Given the description of an element on the screen output the (x, y) to click on. 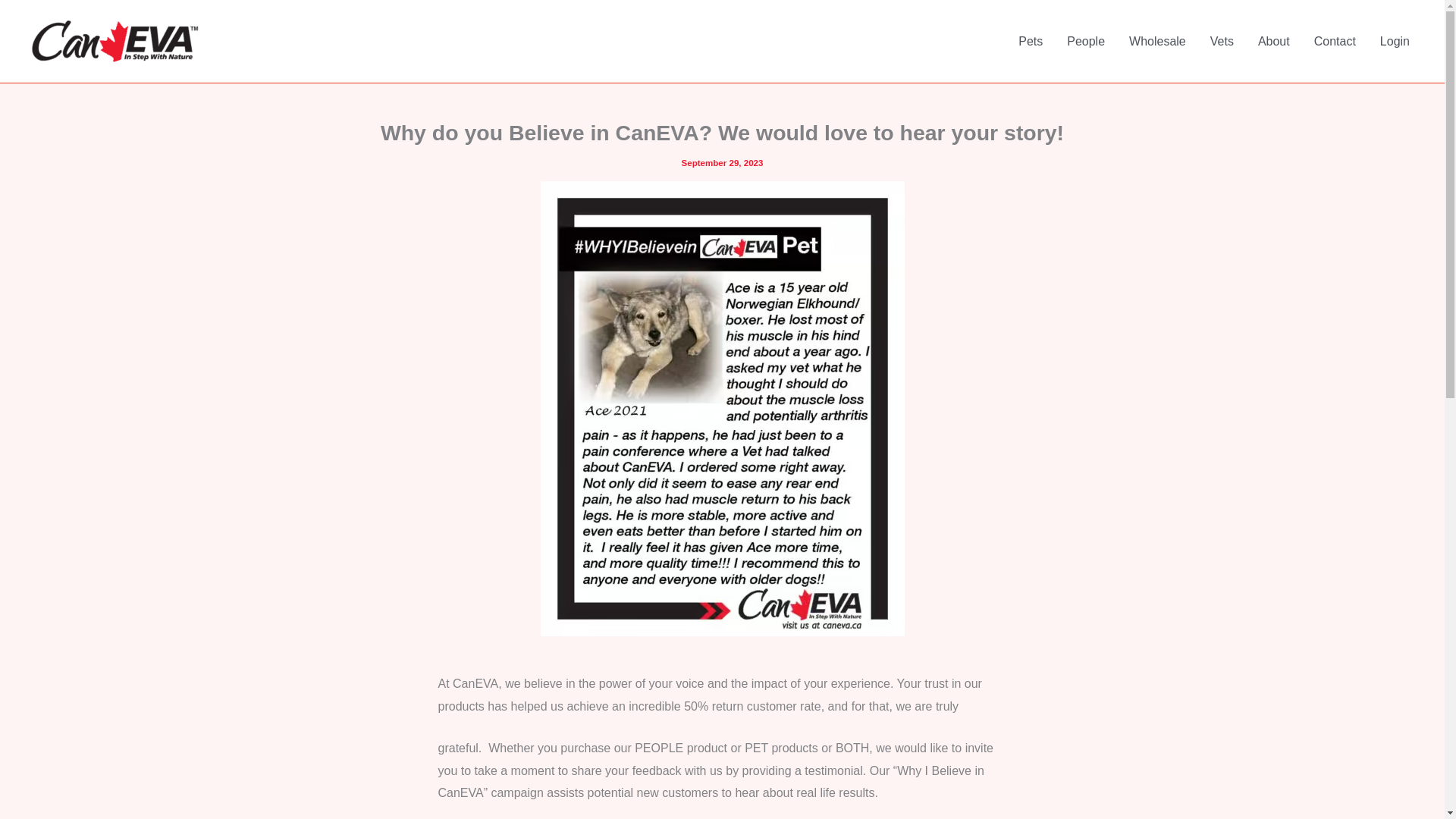
People (1085, 40)
Wholesale (1157, 40)
Contact (1334, 40)
About (1273, 40)
